Given the description of an element on the screen output the (x, y) to click on. 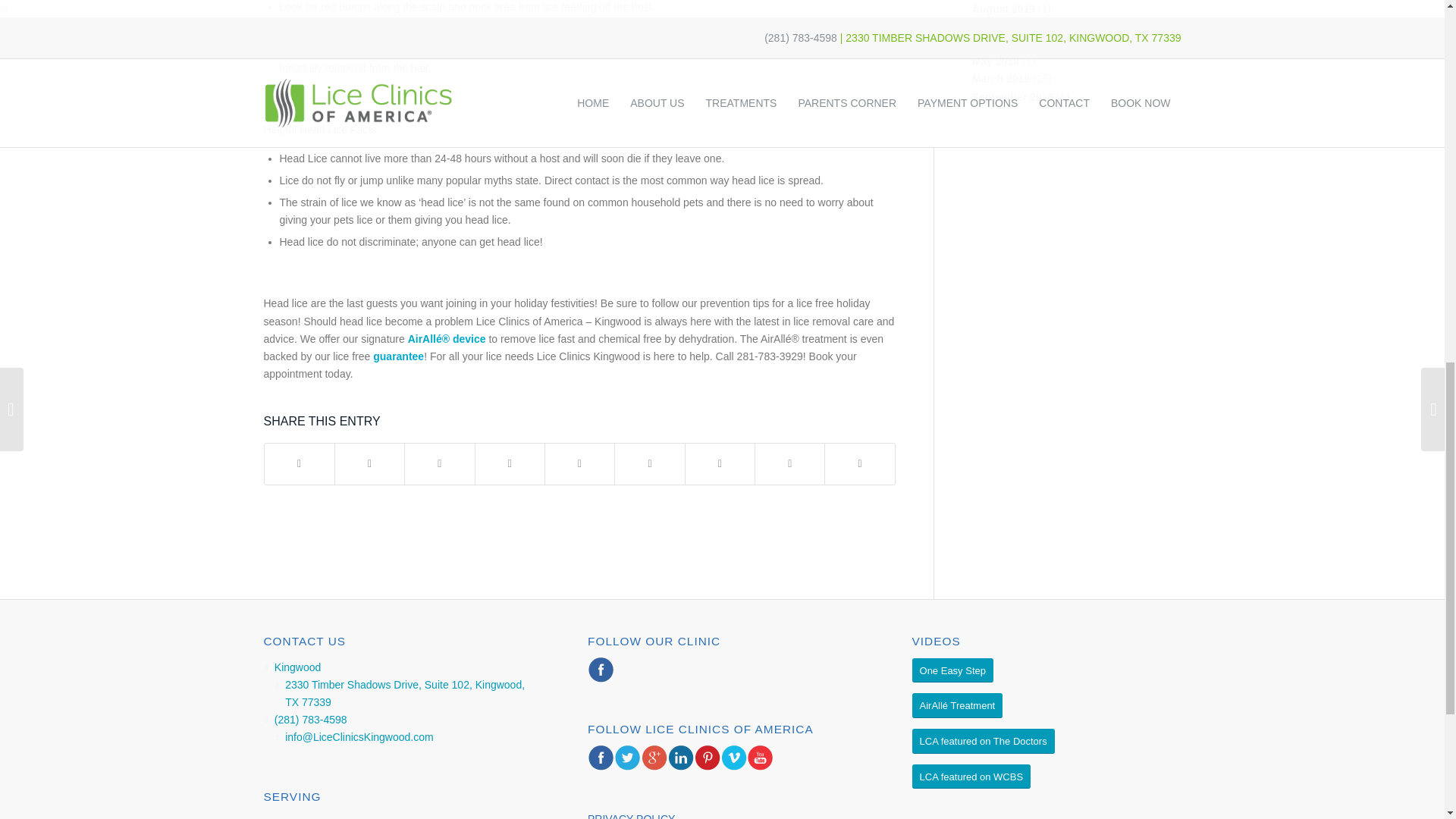
guarantee (397, 356)
